Given the description of an element on the screen output the (x, y) to click on. 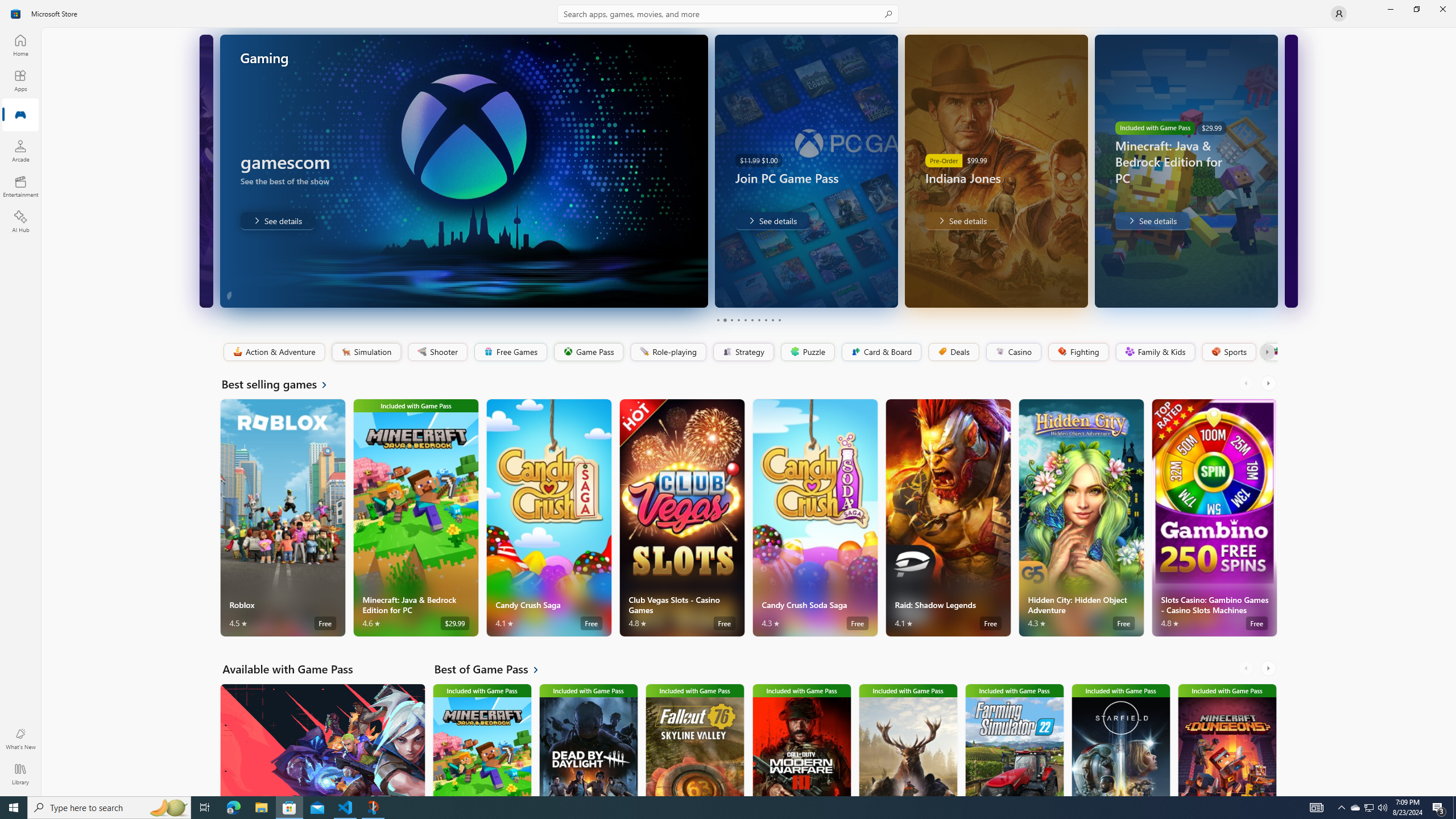
User profile (1338, 13)
Free Games (509, 352)
AutomationID: LeftScrollButton (1246, 668)
Library (20, 773)
Arcade (20, 150)
AI Hub (20, 221)
Card & Board (880, 352)
Game Pass (588, 352)
What's New (20, 738)
Page 6 (751, 319)
Home (20, 45)
